Given the description of an element on the screen output the (x, y) to click on. 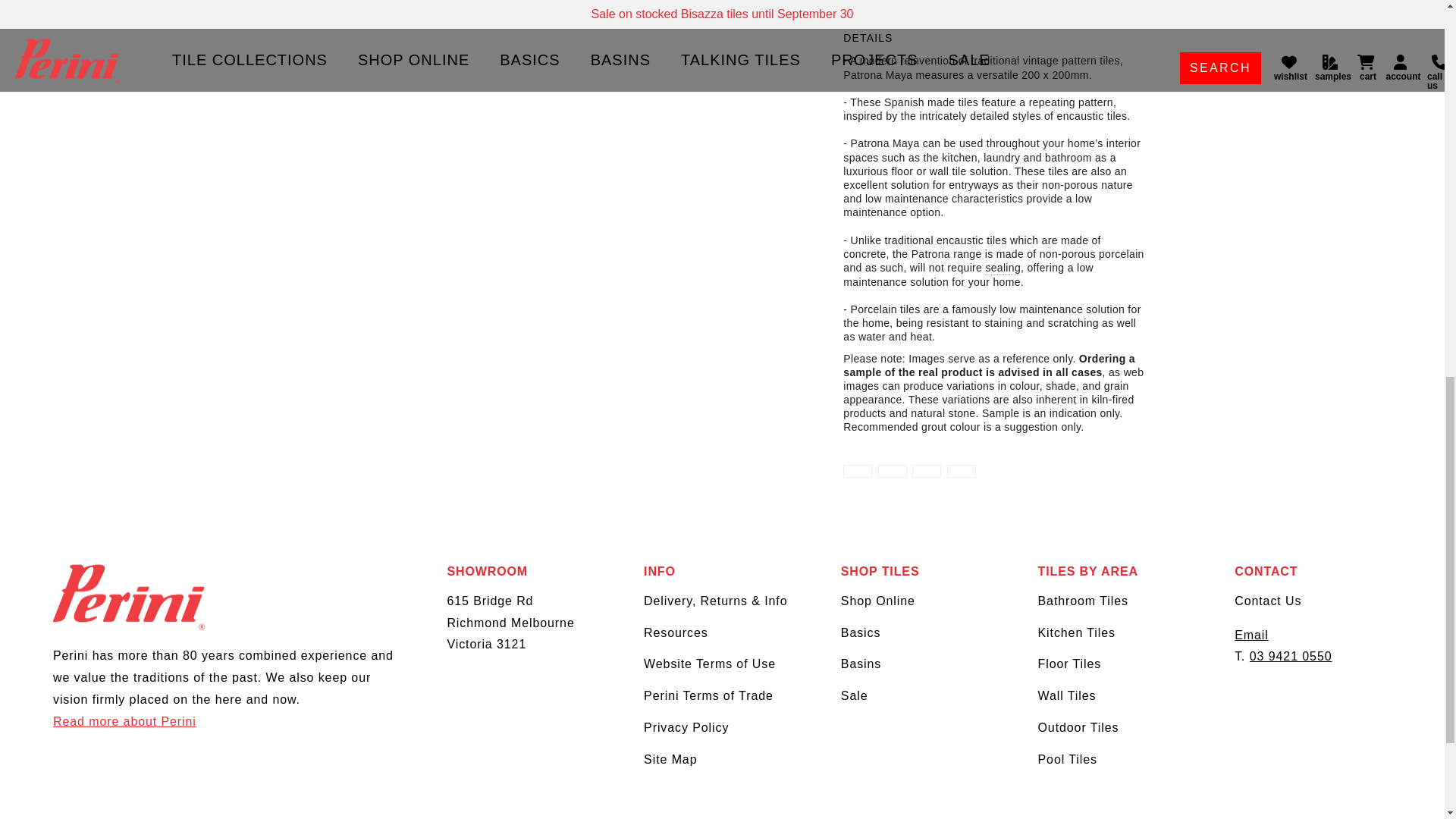
Privacy Policy (686, 727)
Website Terms of Use (709, 663)
Perini Terms of Trade (708, 695)
Share via Email (961, 471)
Read more about Perini (124, 721)
ENQUIRE ABOUT THIS PRODUCT (915, 2)
Share on Facebook (857, 471)
Share on Twitter (892, 471)
Resources (675, 632)
Share on Pinterest (926, 471)
